Given the description of an element on the screen output the (x, y) to click on. 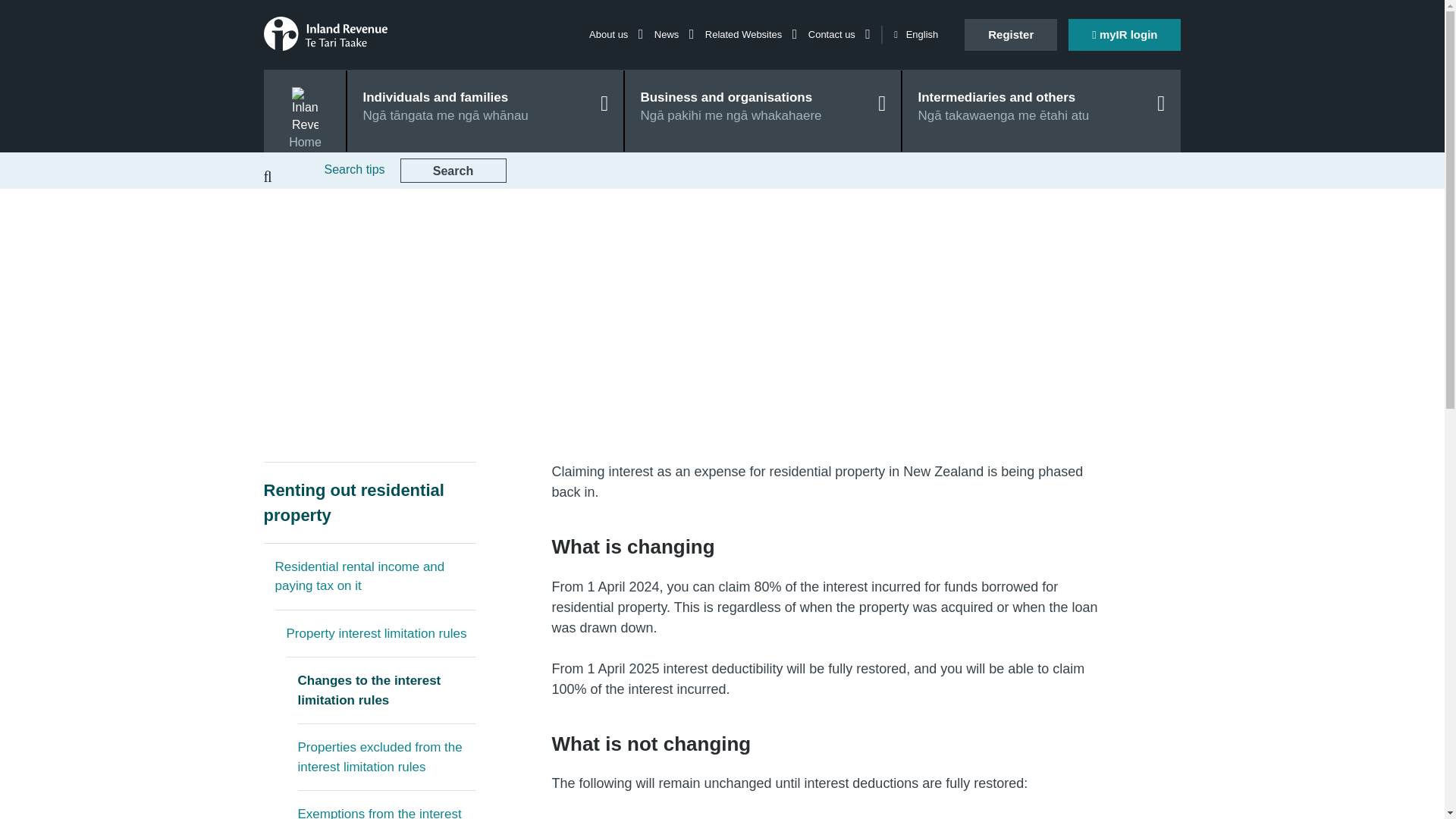
Contact us (839, 34)
Related Websites (750, 34)
Properties excluded from the interest limitation rules (386, 757)
News (673, 34)
myIR login (1124, 34)
About us (616, 34)
Residential rental income and paying tax on it (375, 576)
Renting out residential property (369, 502)
Property interest limitation rules (381, 633)
Exemptions from the interest limitation rules (386, 805)
